Given the description of an element on the screen output the (x, y) to click on. 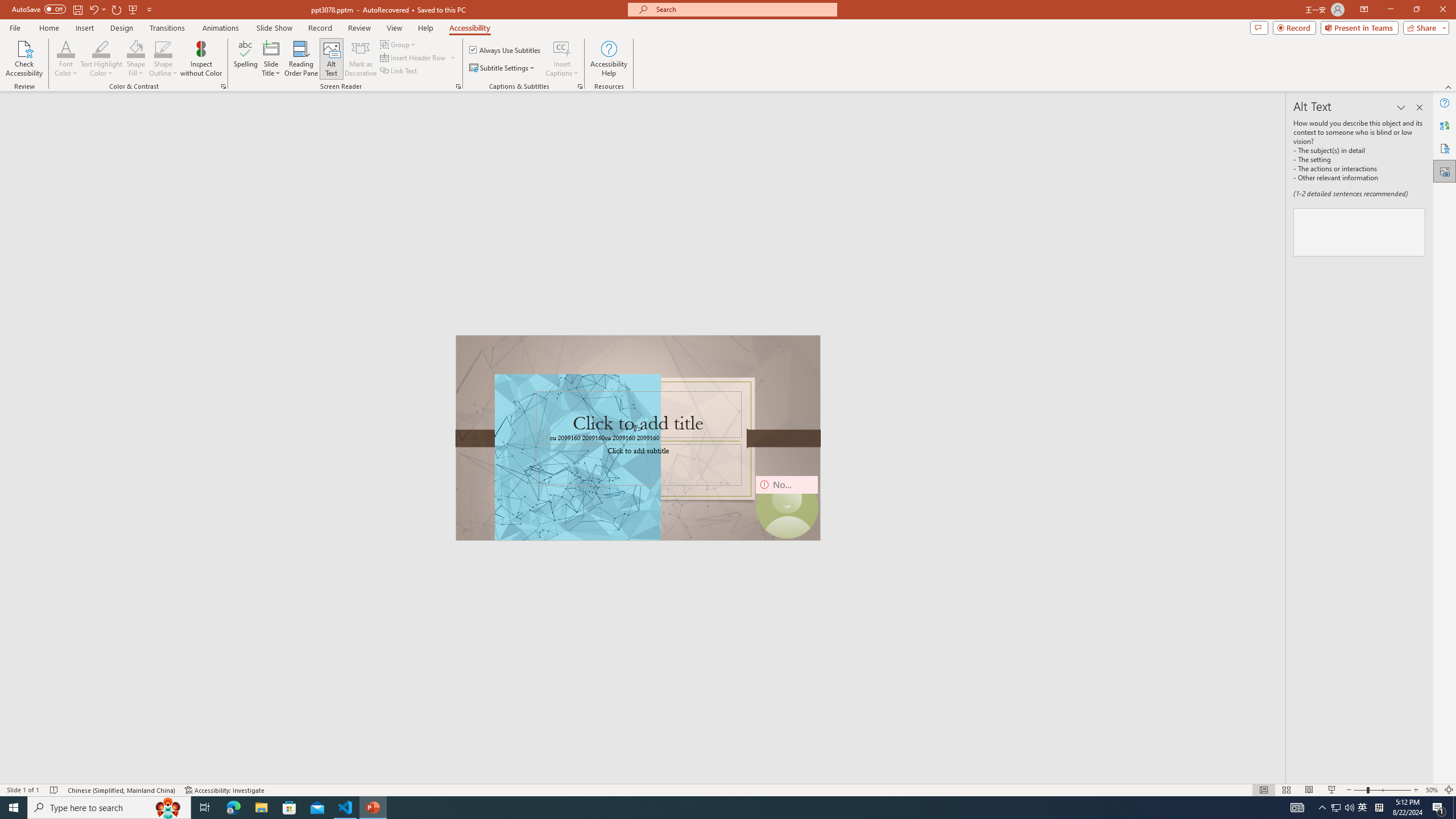
Text Highlight Color (100, 48)
Color & Contrast (223, 85)
Group (398, 44)
Title TextBox (638, 414)
